Given the description of an element on the screen output the (x, y) to click on. 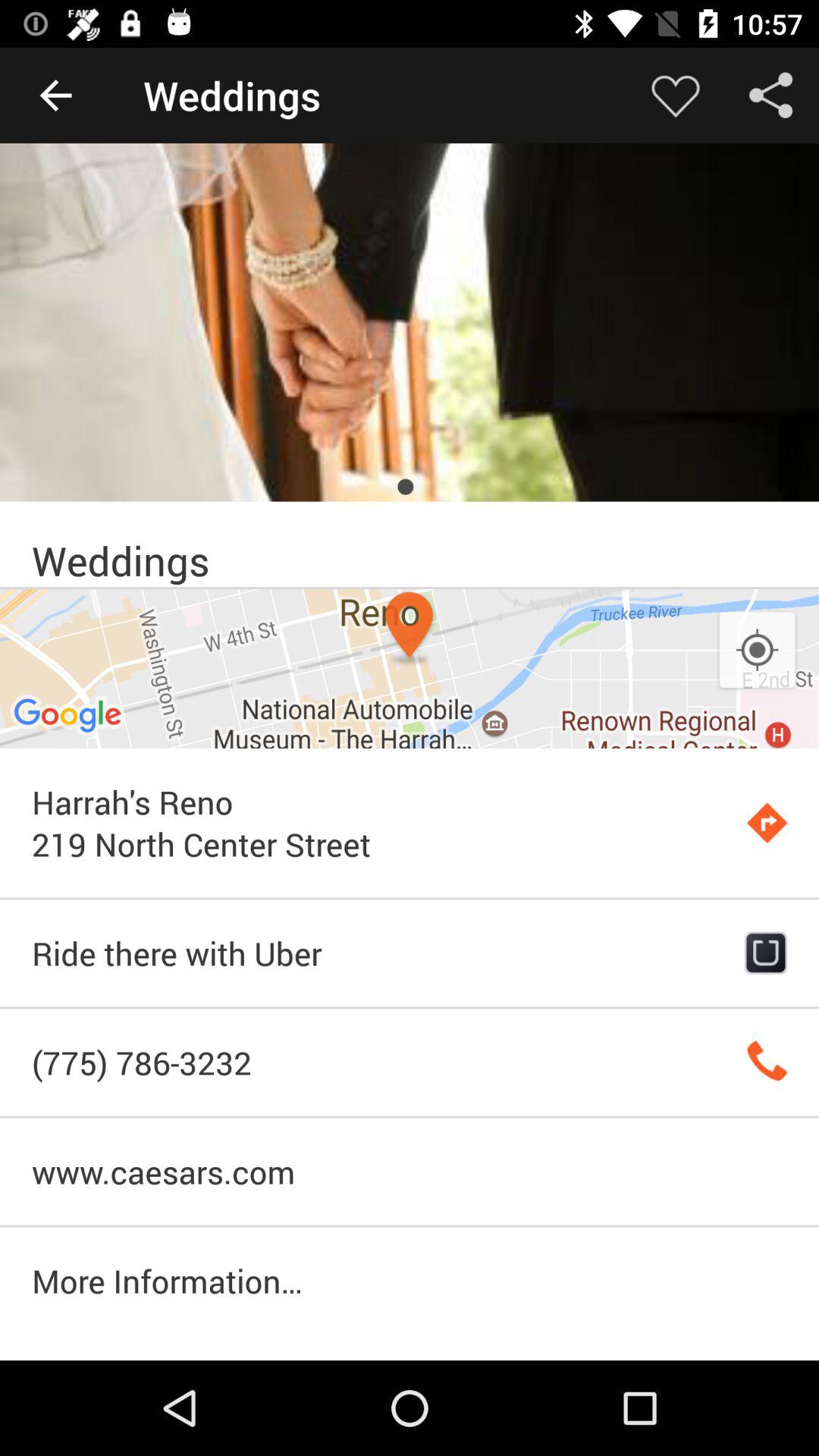
press icon next to the weddings (55, 95)
